Given the description of an element on the screen output the (x, y) to click on. 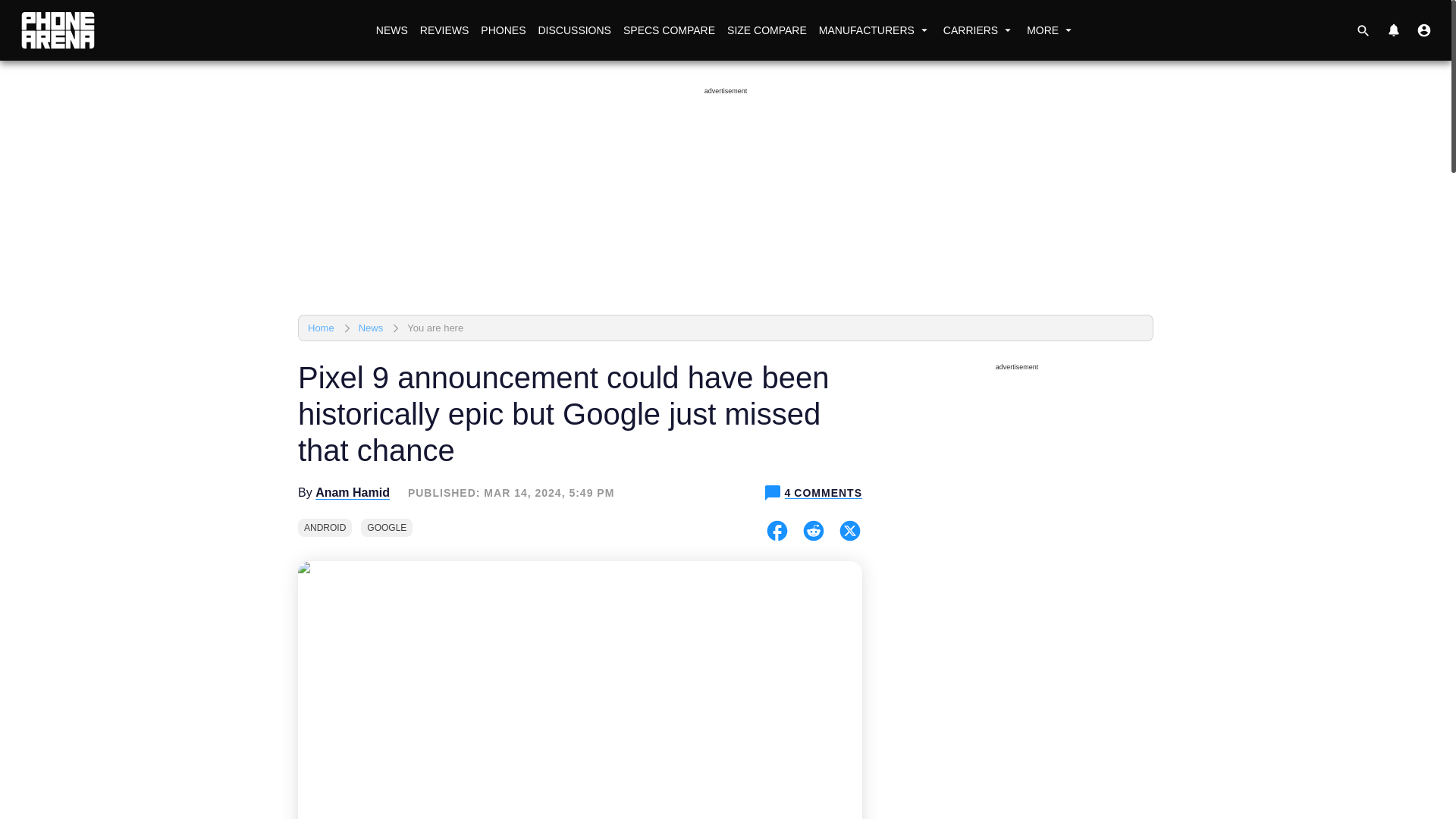
SPECS COMPARE (668, 30)
NEWS (391, 30)
PHONES (502, 30)
MORE (1050, 30)
SIZE COMPARE (766, 30)
MANUFACTURERS (874, 30)
DISCUSSIONS (573, 30)
REVIEWS (444, 30)
CARRIERS (978, 30)
